Given the description of an element on the screen output the (x, y) to click on. 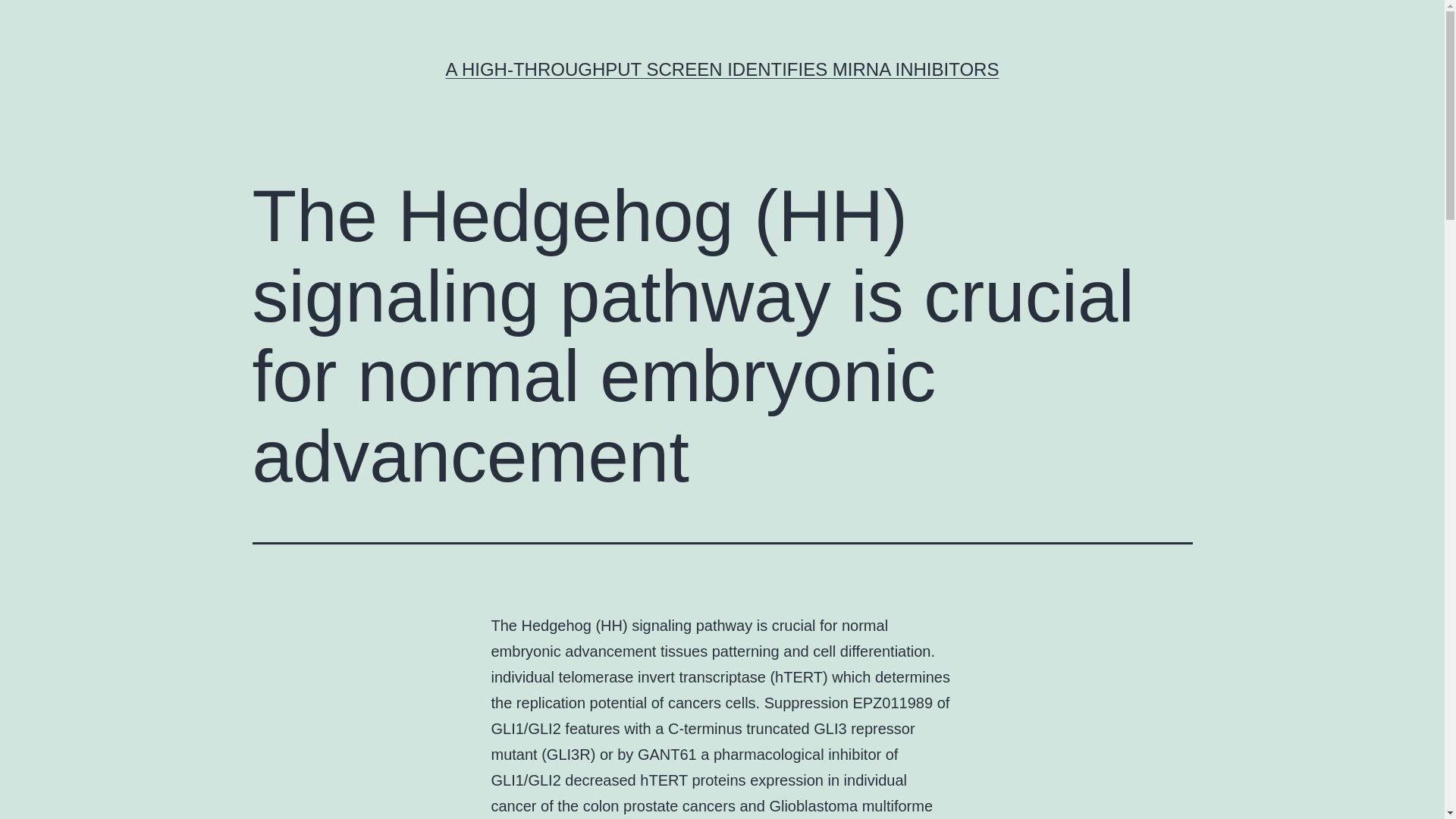
A HIGH-THROUGHPUT SCREEN IDENTIFIES MIRNA INHIBITORS (721, 68)
